Given the description of an element on the screen output the (x, y) to click on. 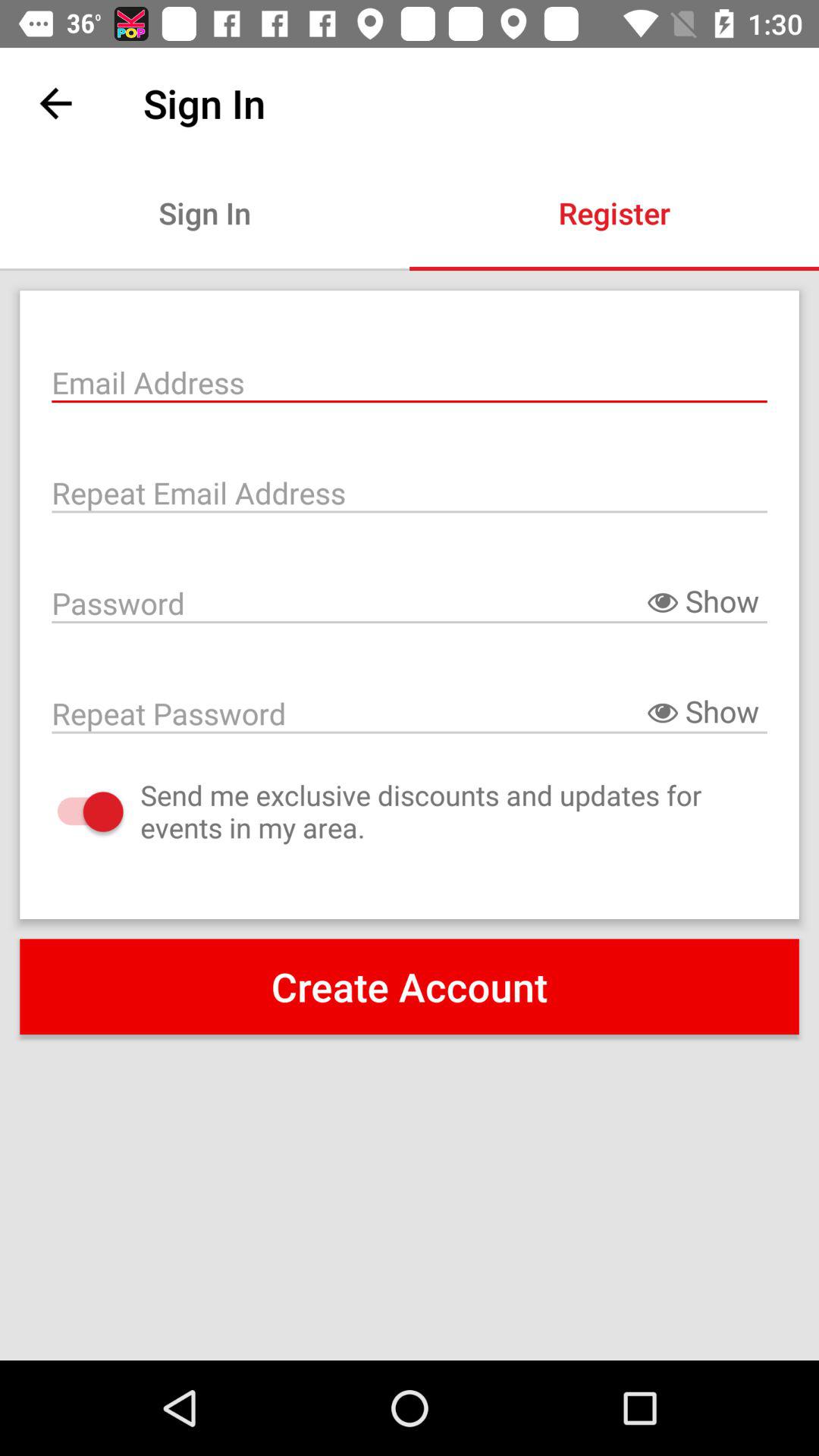
click the icon to the left of sign in (55, 103)
